Given the description of an element on the screen output the (x, y) to click on. 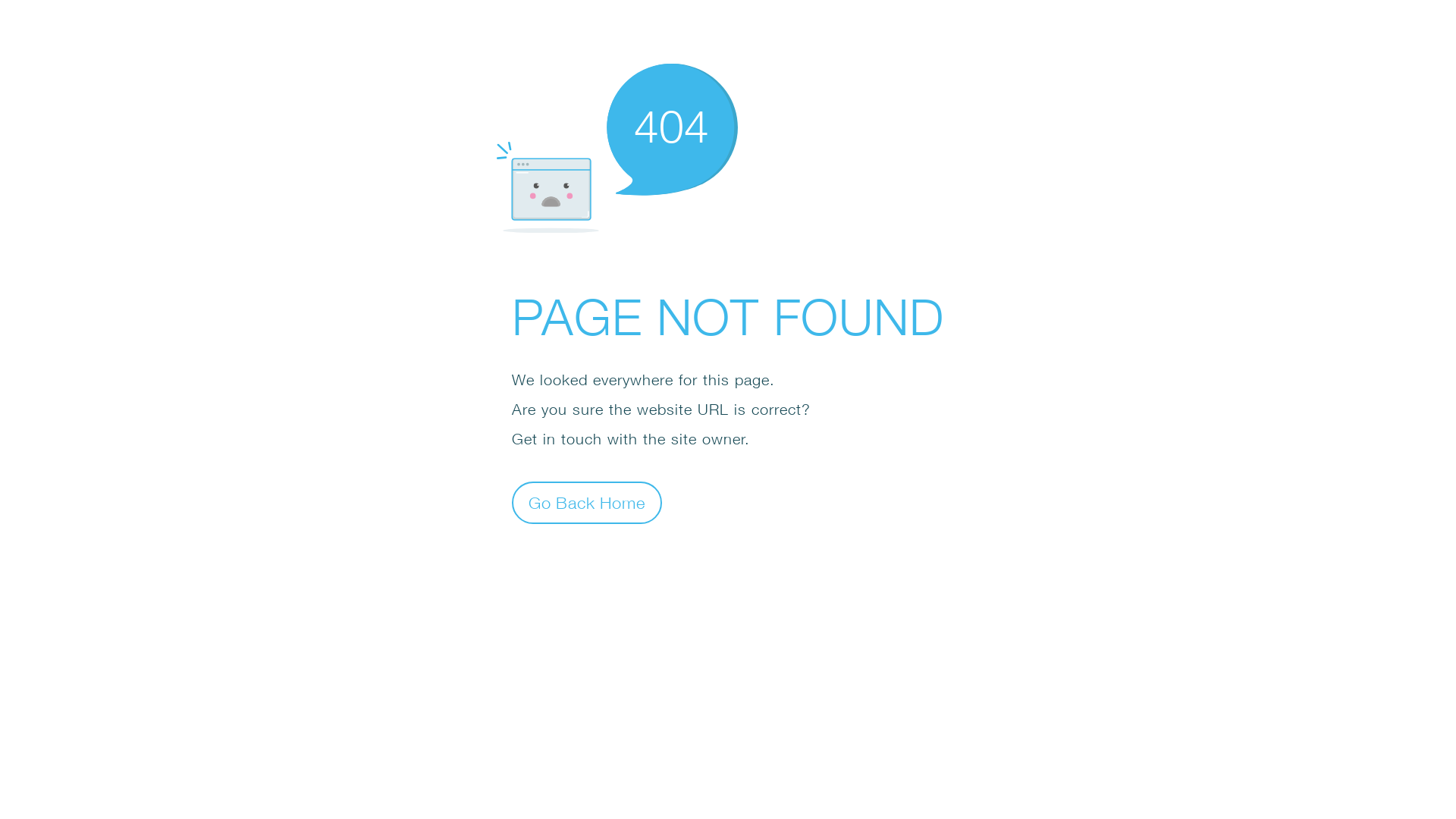
Go Back Home Element type: text (586, 502)
